Given the description of an element on the screen output the (x, y) to click on. 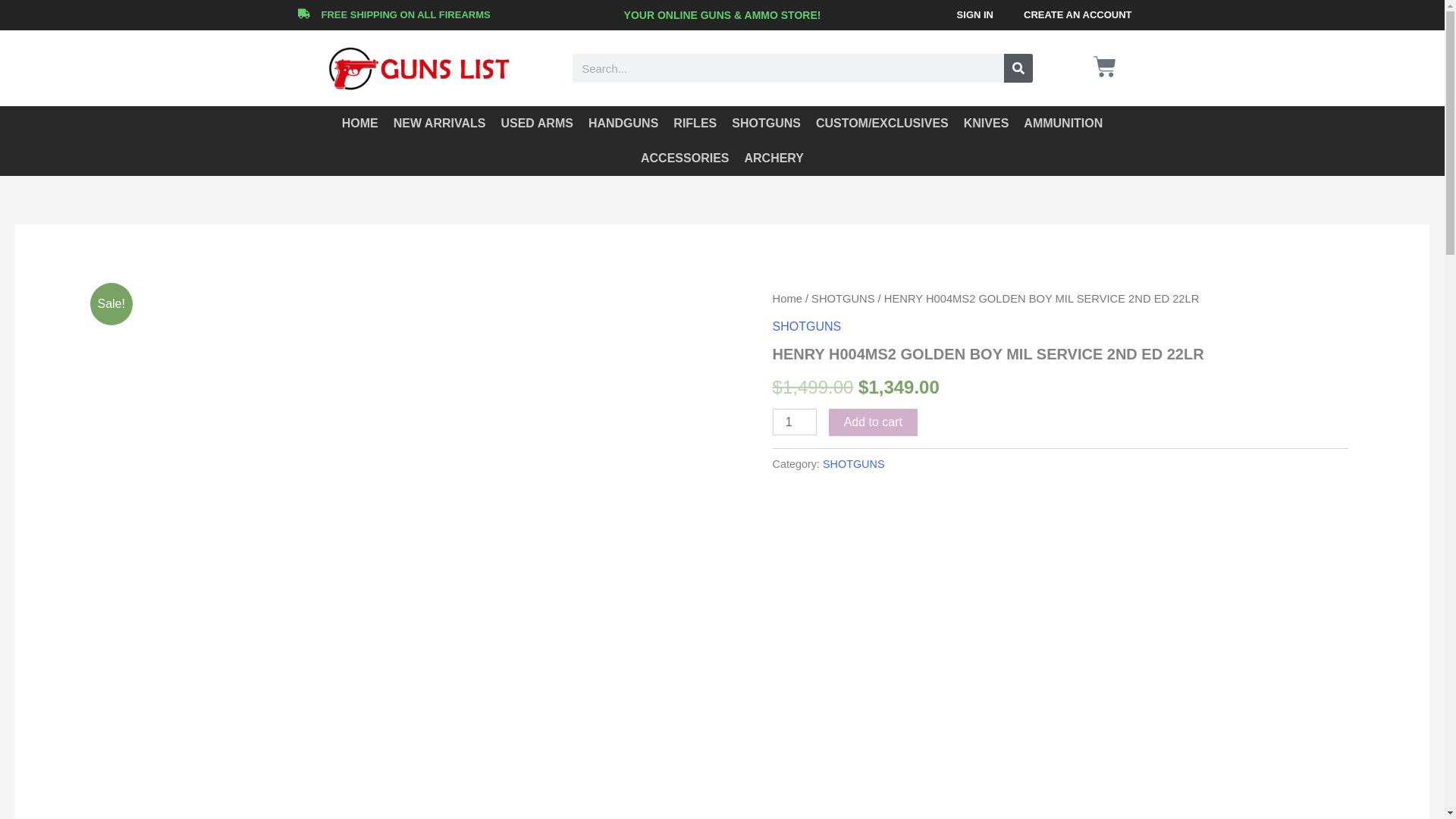
RIFLES (694, 123)
SHOTGUNS (842, 298)
AMMUNITION (1062, 123)
SIGN IN (975, 14)
SHOTGUNS (853, 463)
NEW ARRIVALS (439, 123)
USED ARMS (536, 123)
SHOTGUNS (807, 326)
HOME (359, 123)
ACCESSORIES (684, 158)
